Given the description of an element on the screen output the (x, y) to click on. 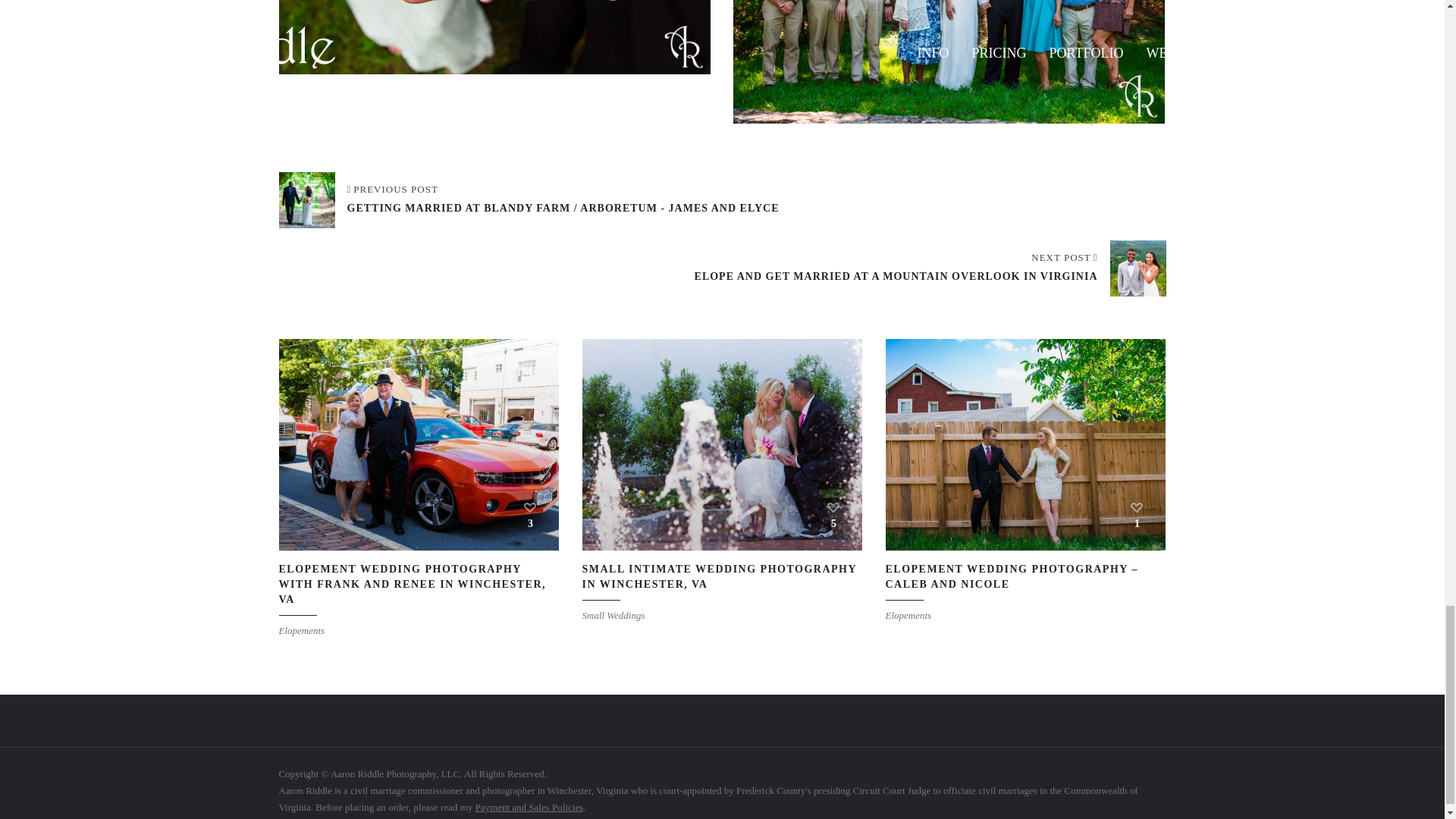
Elope and Get Married at a Mountain Overlook in Virginia (930, 266)
